Given the description of an element on the screen output the (x, y) to click on. 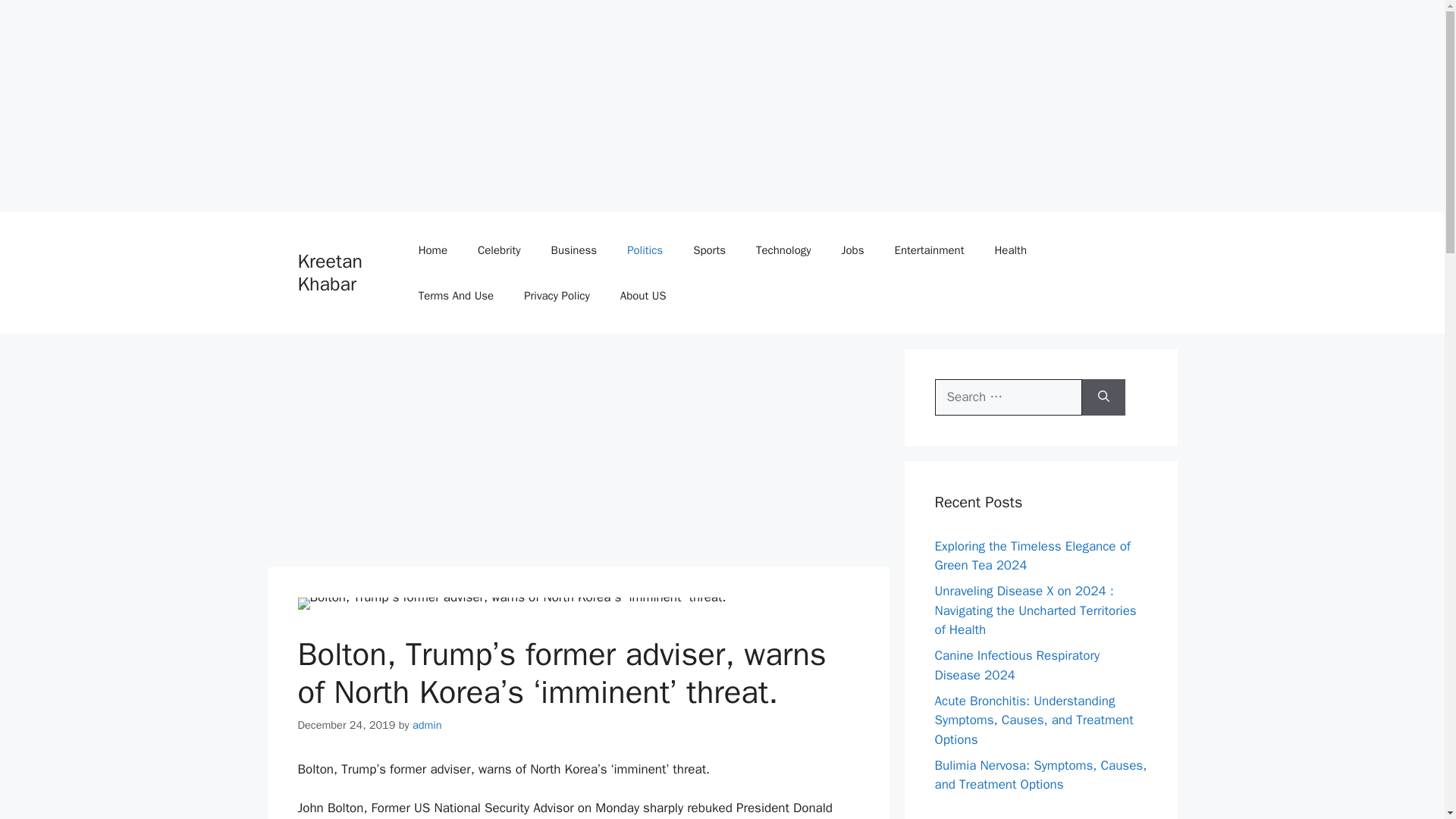
Exploring the Timeless Elegance of Green Tea 2024 (1031, 556)
View all posts by admin (427, 725)
Jobs (853, 249)
Technology (784, 249)
Business (573, 249)
Kreetan Khabar (329, 272)
Terms And Use (456, 295)
Politics (644, 249)
